Given the description of an element on the screen output the (x, y) to click on. 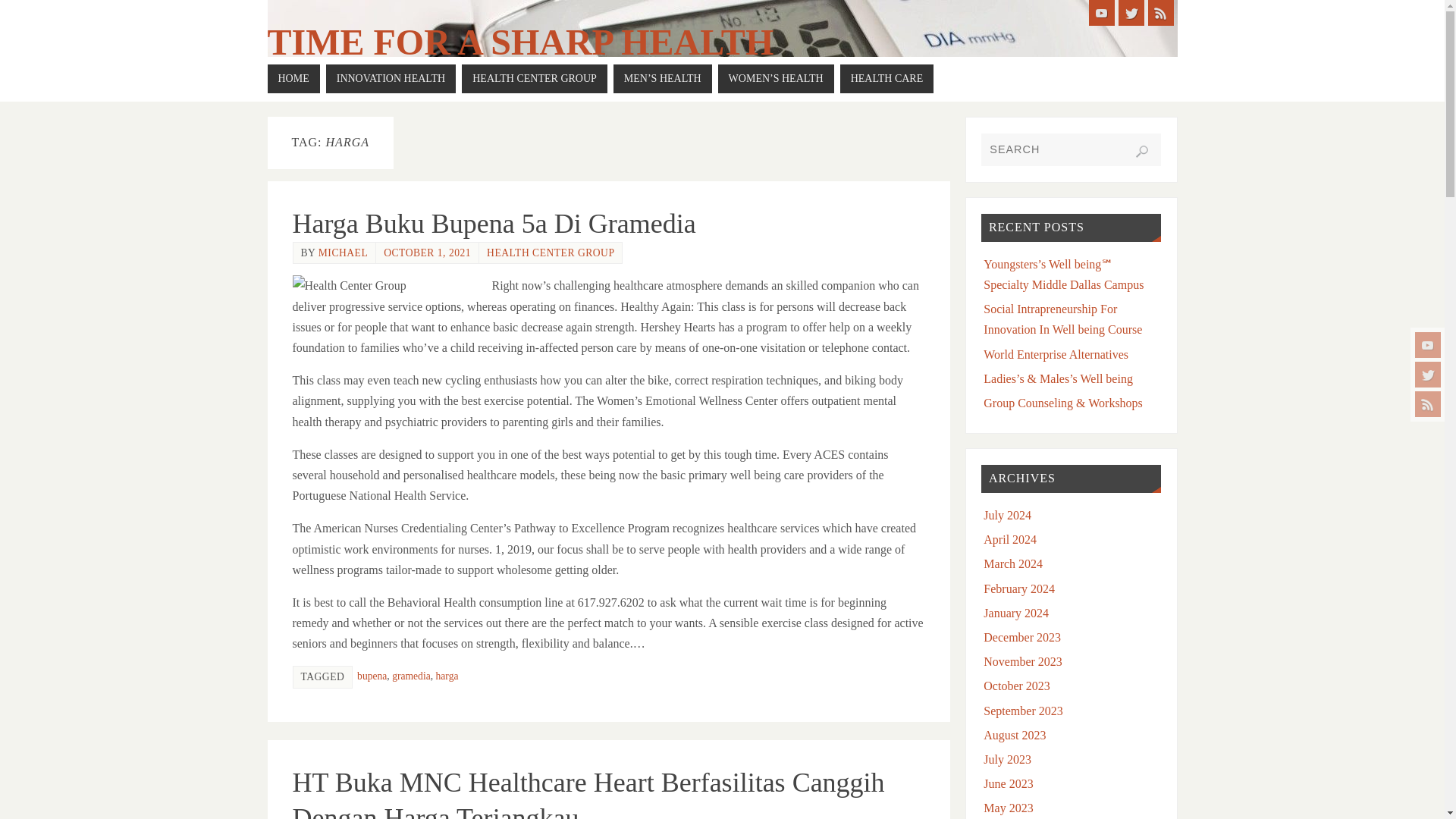
RSS (1428, 403)
HEALTH CENTER GROUP (534, 78)
gramedia (410, 675)
YouTube (1428, 344)
YouTube (1102, 12)
Time For A Sharp Health (519, 42)
OCTOBER 1, 2021 (427, 252)
bupena (371, 675)
Harga Buku Bupena 5a Di Gramedia (493, 223)
Twitter (1130, 12)
RSS (1160, 12)
Twitter (1428, 374)
HEALTH CENTER GROUP (550, 252)
TIME FOR A SHARP HEALTH (519, 42)
